Given the description of an element on the screen output the (x, y) to click on. 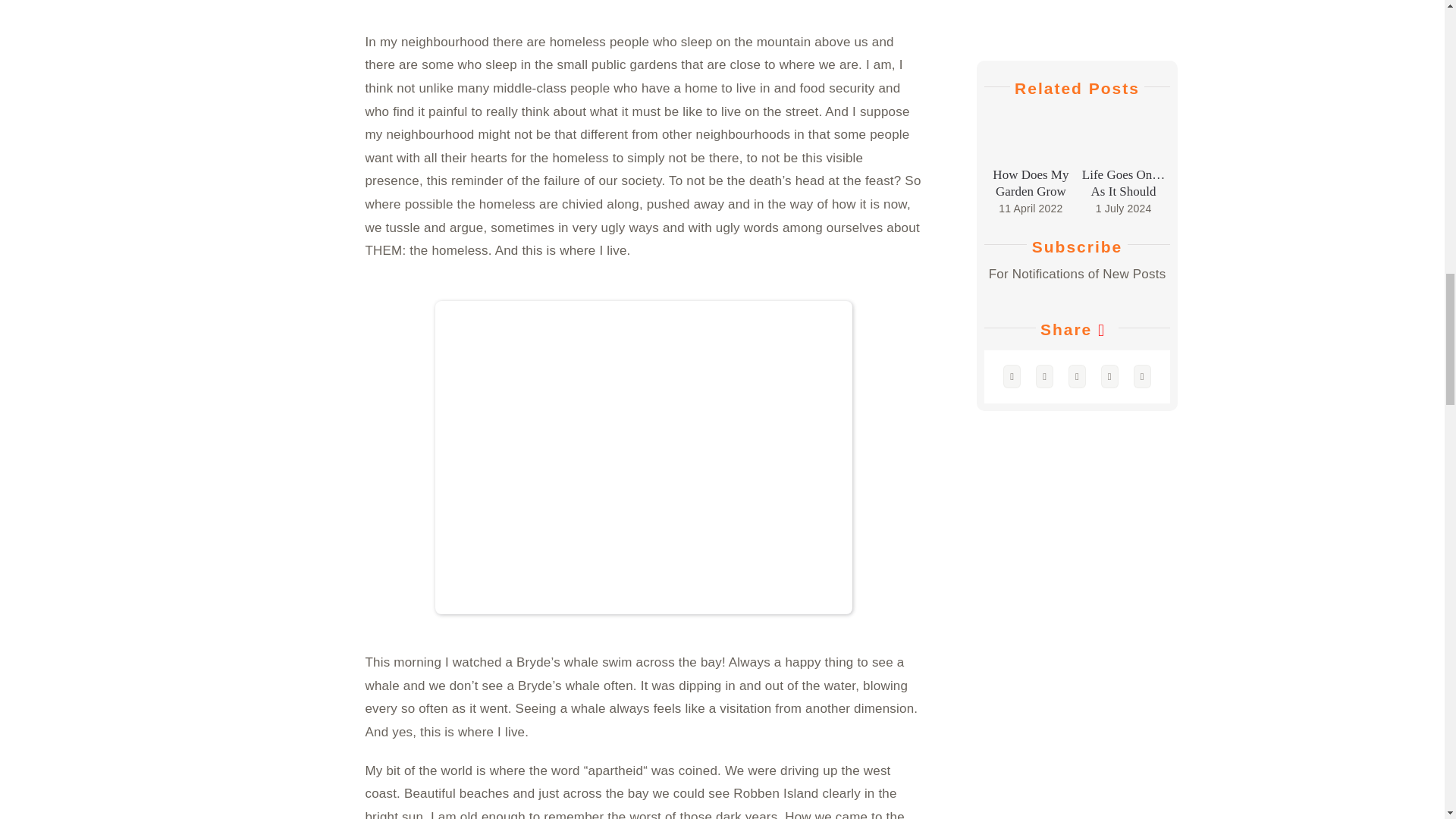
Fish hoek mountain (643, 457)
